Given the description of an element on the screen output the (x, y) to click on. 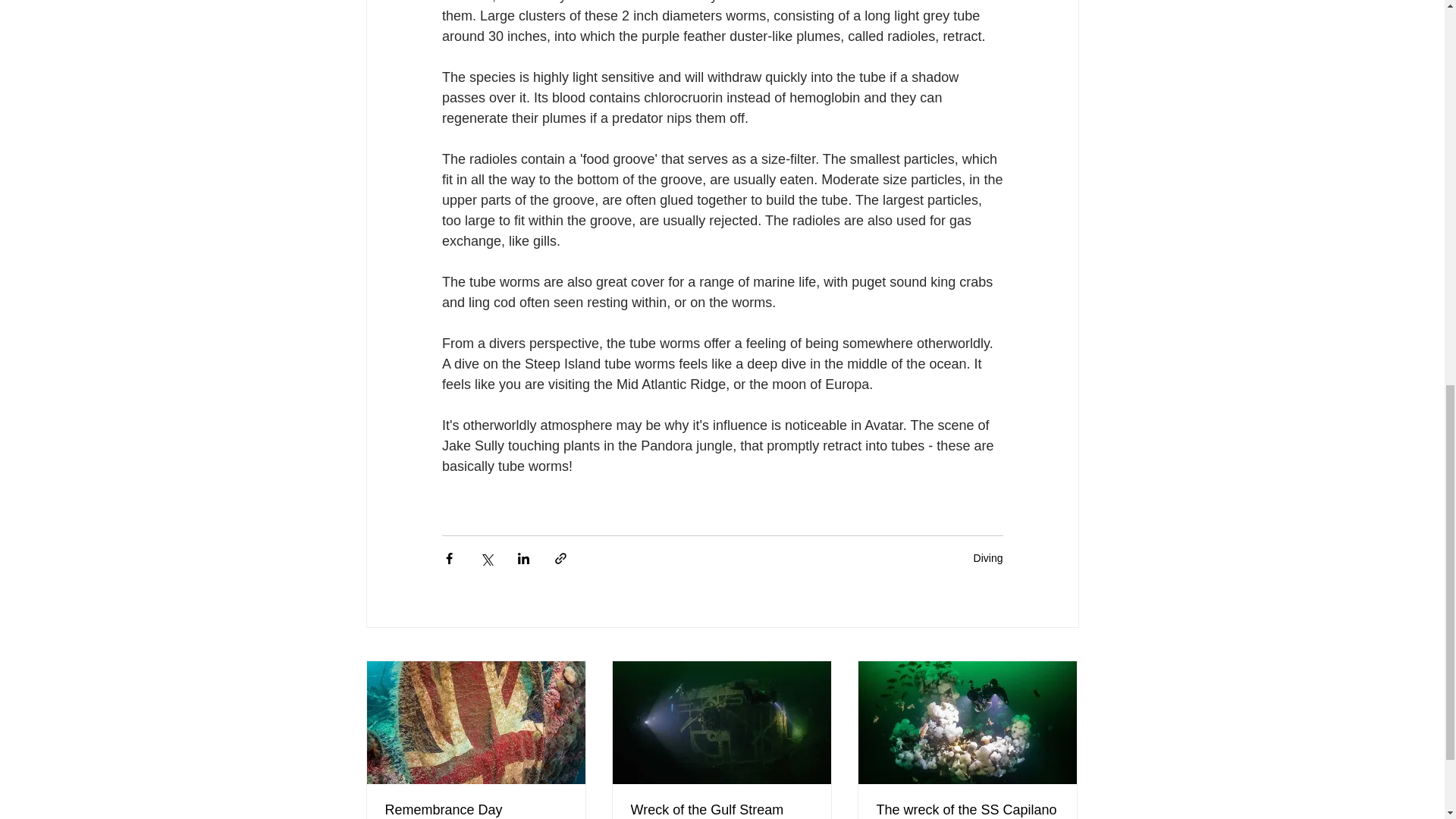
The wreck of the SS Capilano (967, 810)
Wreck of the Gulf Stream (721, 810)
Remembrance Day (476, 810)
Diving (988, 558)
